Given the description of an element on the screen output the (x, y) to click on. 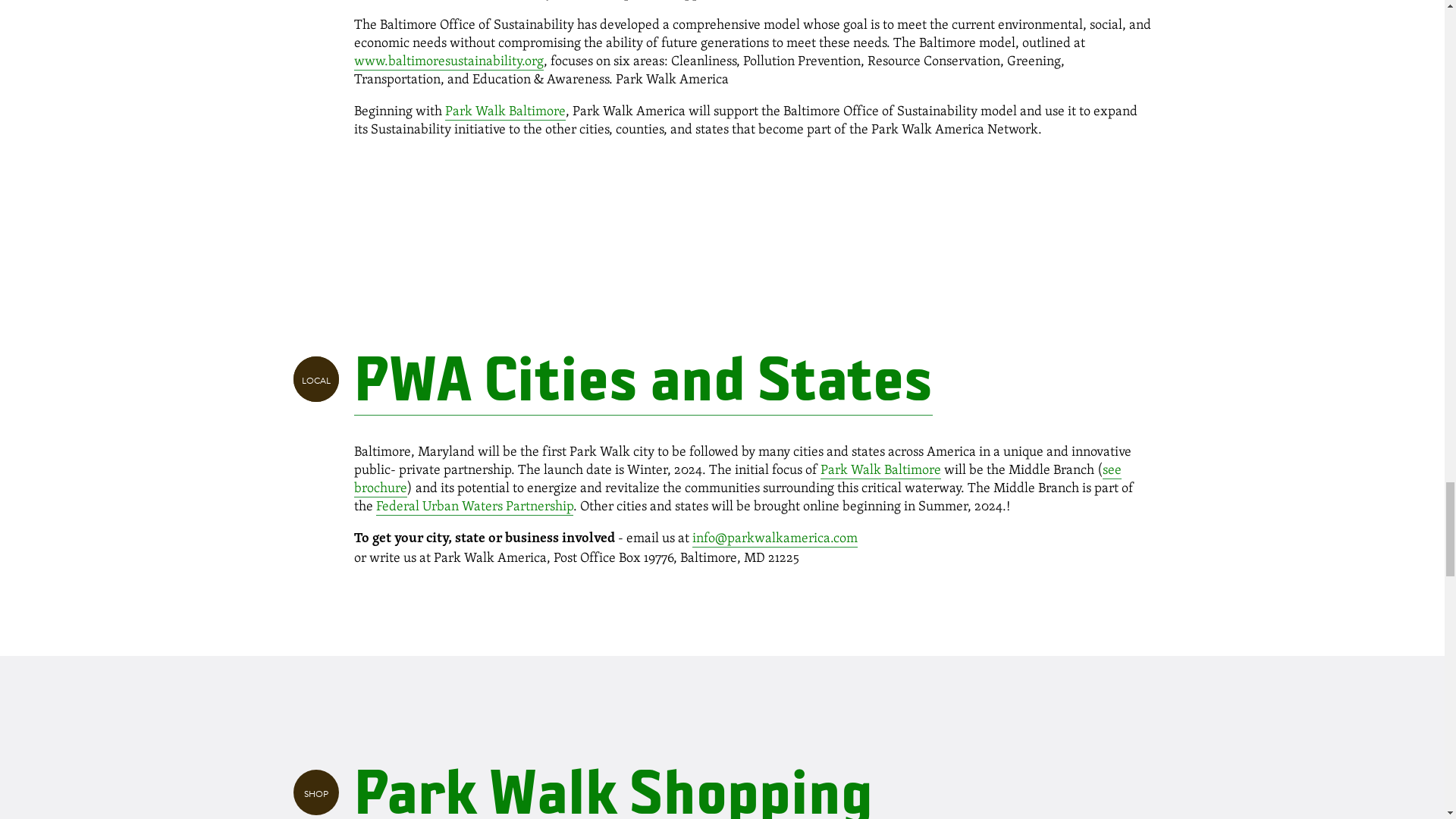
LOCAL (314, 379)
www.baltimoresustainability.org (448, 60)
Park Walk Baltimore (504, 110)
